Given the description of an element on the screen output the (x, y) to click on. 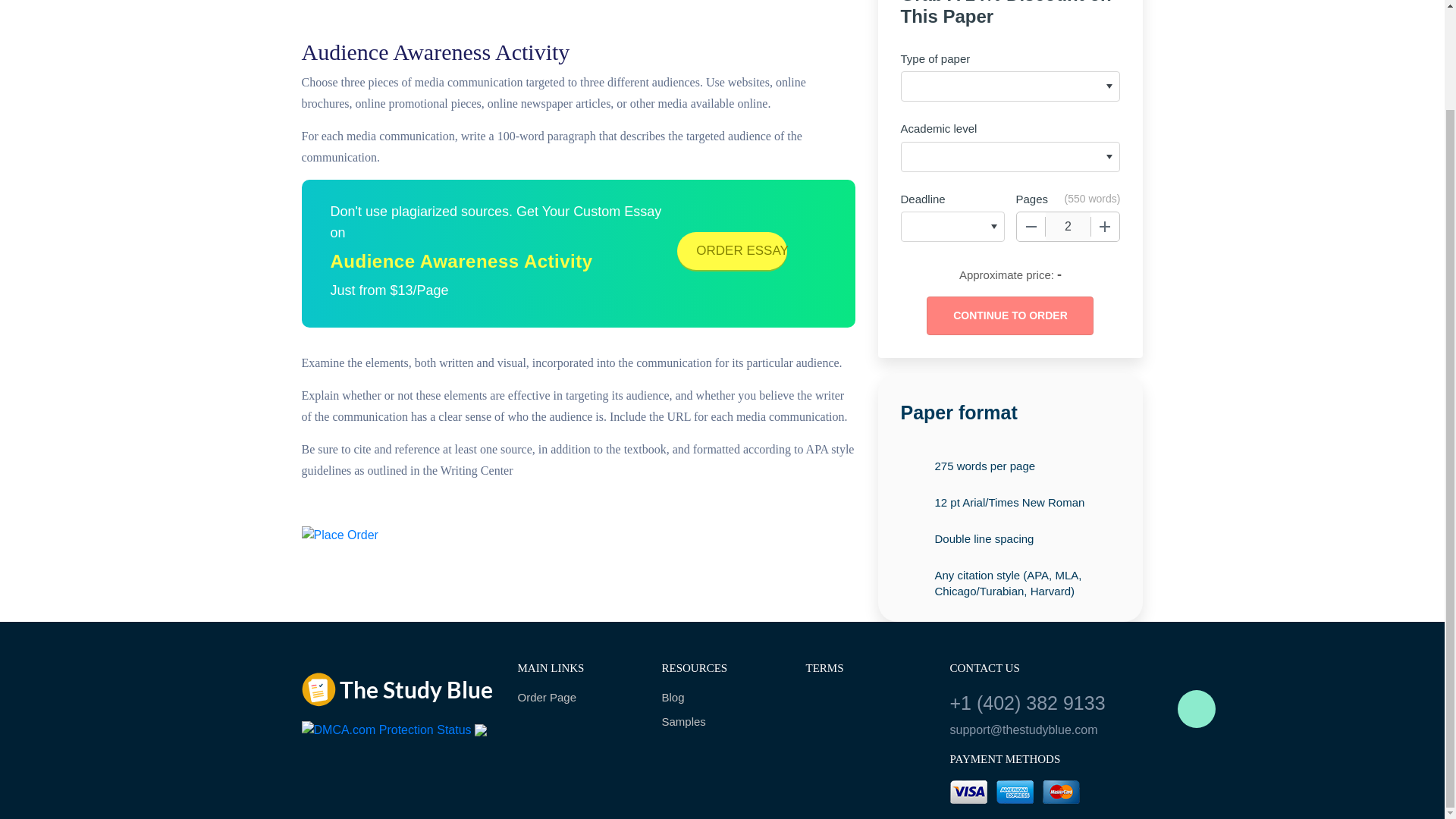
Blog (722, 697)
Place Order (339, 535)
DMCA.com Protection Status (386, 728)
Continue to order (1009, 315)
Blog (722, 697)
Samples (722, 722)
Increase (1104, 226)
Samples (722, 722)
ORDER ESSAY (732, 250)
Decrease (1030, 226)
Order Page (577, 697)
2 (1067, 226)
Order Page (577, 697)
Continue to order (1009, 315)
